Given the description of an element on the screen output the (x, y) to click on. 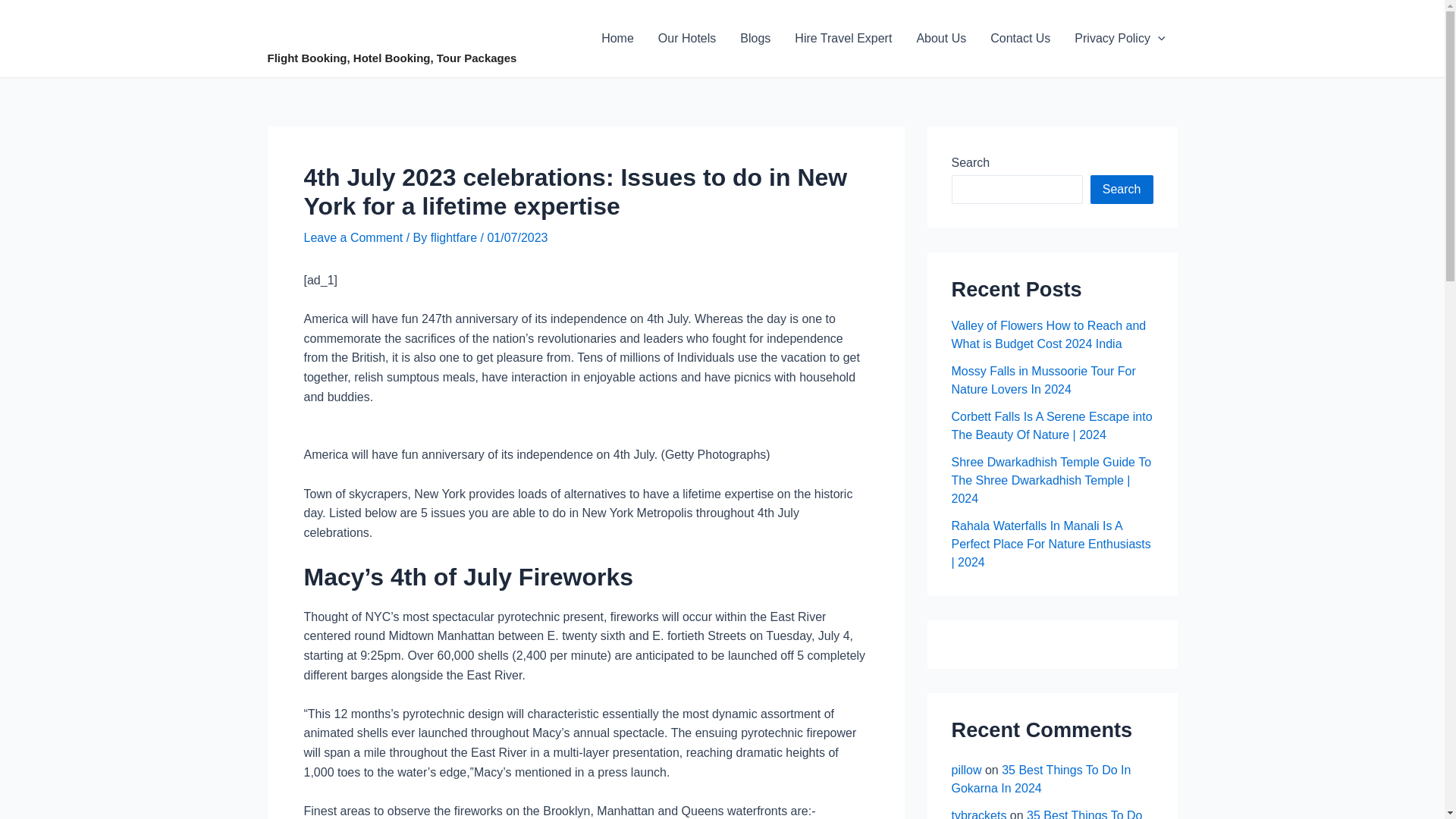
Blogs (755, 38)
View all posts by flightfare (455, 237)
Hire Travel Expert (843, 38)
Home (617, 38)
About Us (941, 38)
Privacy Policy (1119, 38)
Search (1121, 189)
Contact Us (1020, 38)
Mossy Falls in Mussoorie Tour For Nature Lovers In 2024 (1042, 379)
